Given the description of an element on the screen output the (x, y) to click on. 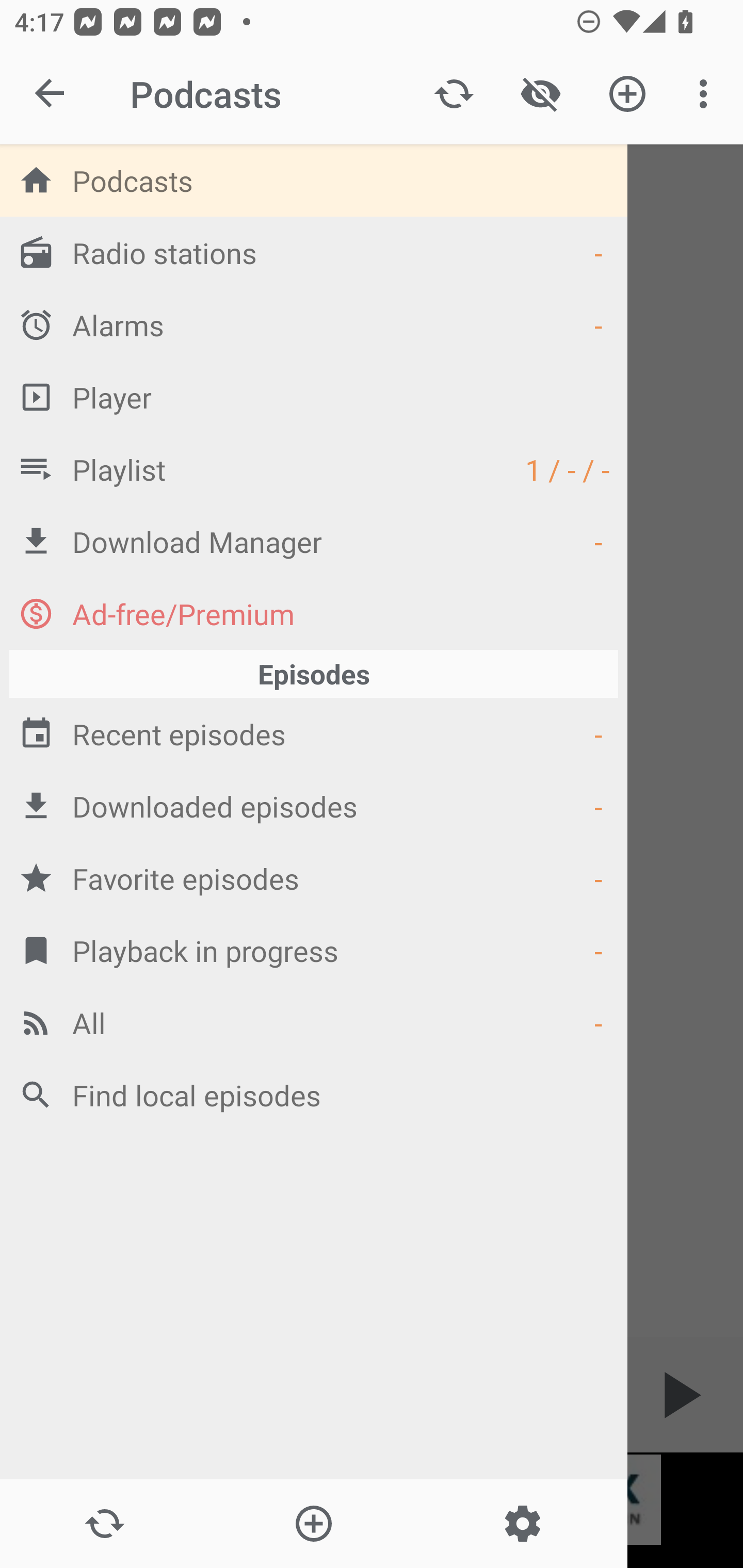
Close navigation sidebar (50, 93)
Update (453, 93)
Show / Hide played content (540, 93)
Add new Podcast (626, 93)
More options (706, 93)
Podcasts (313, 180)
Radio stations  -  (313, 252)
Alarms  -  (313, 324)
Player (313, 396)
Playlist 1 / - / - (313, 468)
Download Manager  -  (313, 540)
Ad-free/Premium (313, 613)
Recent episodes  -  (313, 733)
Downloaded episodes  -  (313, 805)
Favorite episodes  -  (313, 878)
Playback in progress  -  (313, 950)
All  -  (313, 1022)
Find local episodes (313, 1094)
Update (104, 1523)
Add new Podcast (312, 1523)
Settings (522, 1523)
